Given the description of an element on the screen output the (x, y) to click on. 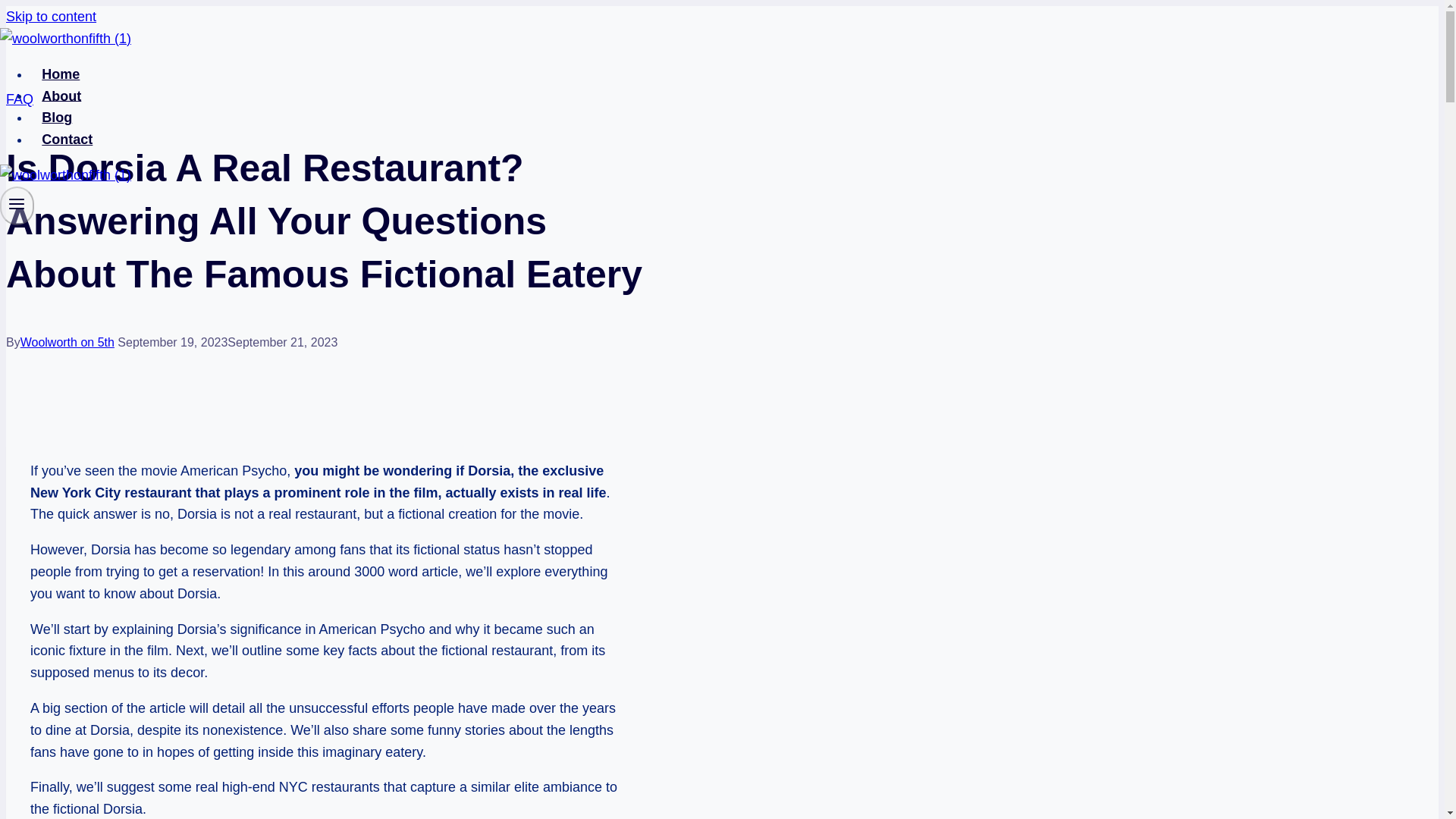
Skip to content (50, 16)
Skip to content (50, 16)
FAQ (19, 99)
Contact (67, 139)
Blog (57, 117)
Home (60, 74)
Woolworth on 5th (67, 341)
Toggle Menu (16, 203)
About (61, 96)
